Given the description of an element on the screen output the (x, y) to click on. 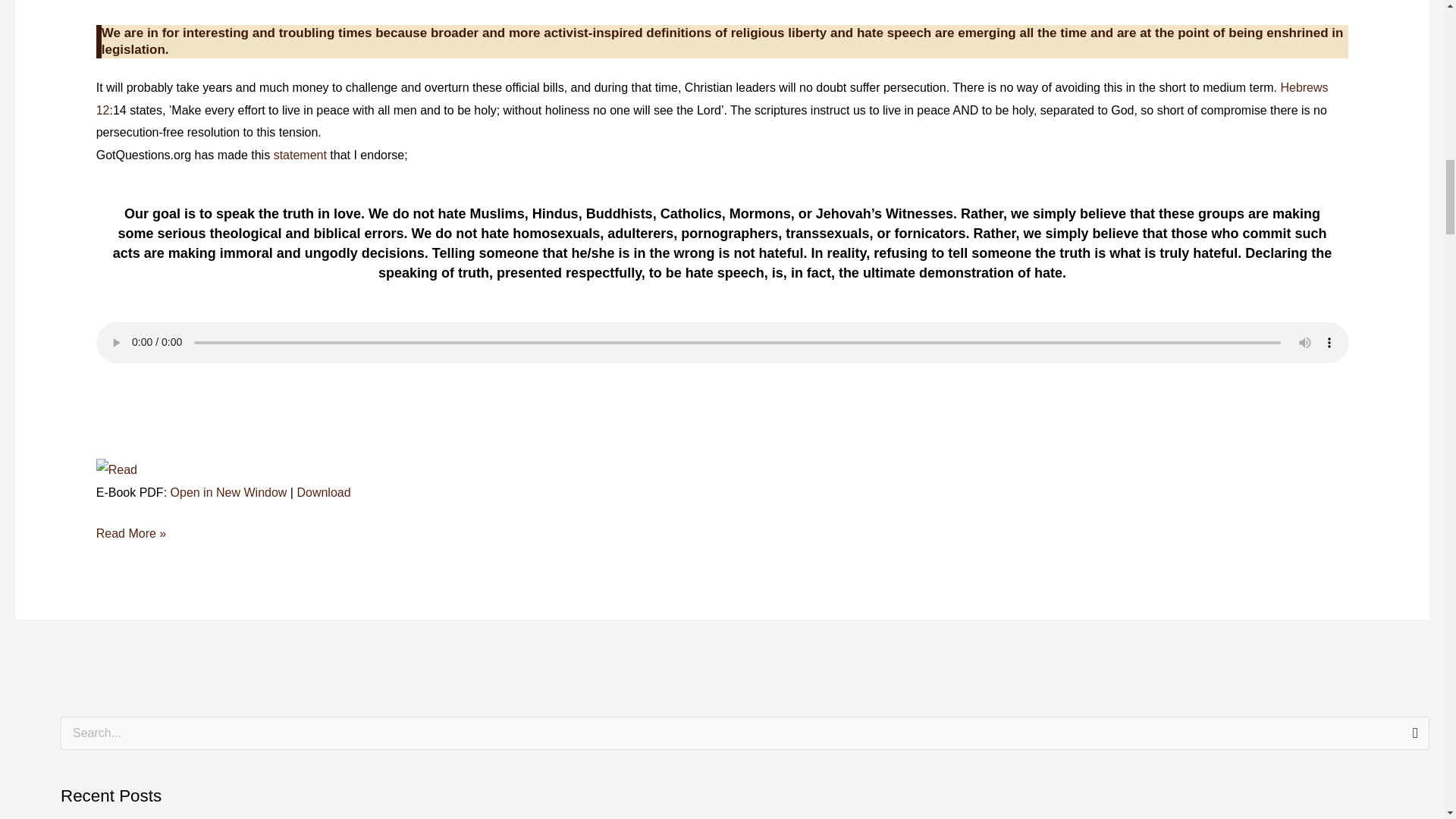
Read (116, 469)
Open in New Window (228, 492)
statement (301, 154)
Hebrews 12 (711, 99)
Download (323, 492)
Download (323, 492)
Open in New Window (228, 492)
Read (116, 468)
